Given the description of an element on the screen output the (x, y) to click on. 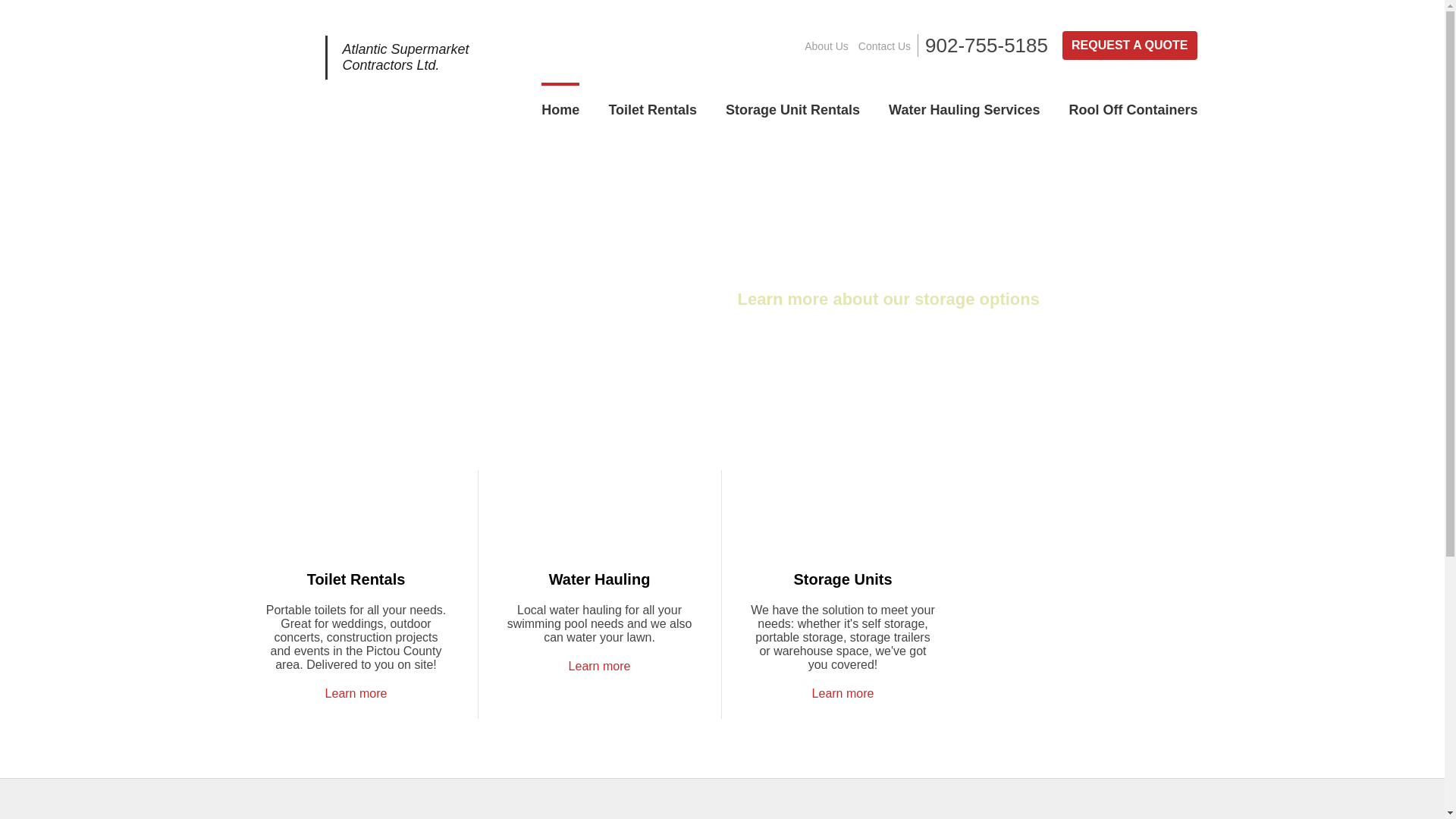
Atlantic Supermarket Contractors Ltd. Element type: text (359, 75)
Water Hauling Services Element type: text (963, 105)
Home Element type: text (560, 105)
Toilet Rentals Element type: text (652, 105)
Learn more Element type: text (843, 693)
Learn more Element type: text (356, 693)
REQUEST A QUOTE Element type: text (1129, 45)
About Us Element type: text (826, 46)
Rool Off Containers Element type: text (1133, 105)
Storage Unit Rentals Element type: text (792, 105)
Learn more about our storage options Element type: text (887, 298)
Contact Us Element type: text (884, 46)
Learn more Element type: text (599, 665)
